Given the description of an element on the screen output the (x, y) to click on. 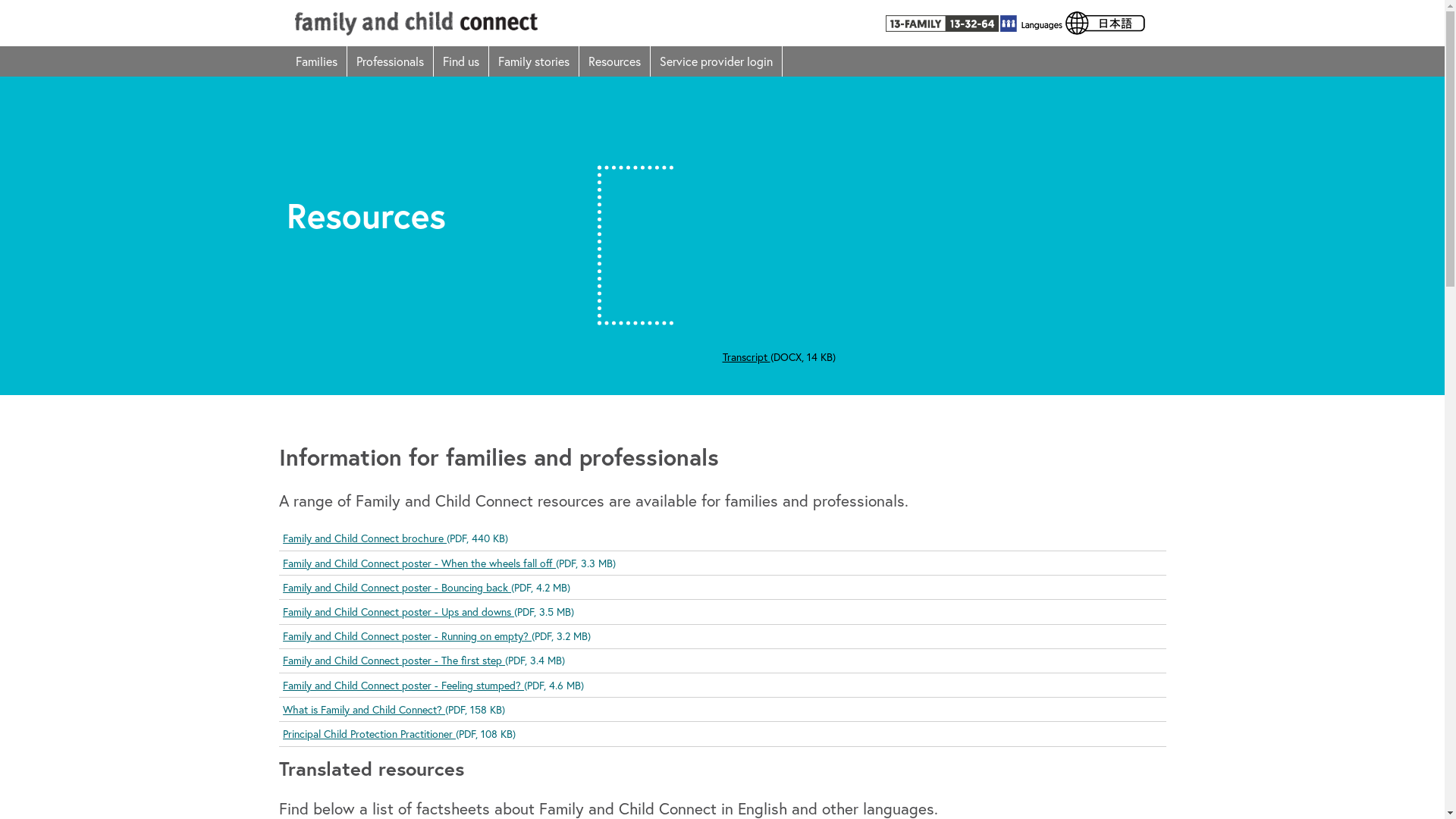
Translated resources Element type: text (1082, 22)
Telephone: 13 32 64 Element type: text (950, 22)
Professionals Element type: text (390, 61)
Families Element type: text (316, 61)
Family stories Element type: text (533, 61)
Family and Child Connect brochure (PDF, 440 KB) Element type: text (395, 537)
YouTube video player Element type: hover (933, 218)
Service provider login Element type: text (716, 61)
Find us Element type: text (461, 61)
Resources Element type: text (614, 61)
Principal Child Protection Practitioner (PDF, 108 KB) Element type: text (398, 733)
Transcript (DOCX, 14 KB) Element type: text (777, 356)
What is Family and Child Connect? (PDF, 158 KB) Element type: text (393, 709)
